Given the description of an element on the screen output the (x, y) to click on. 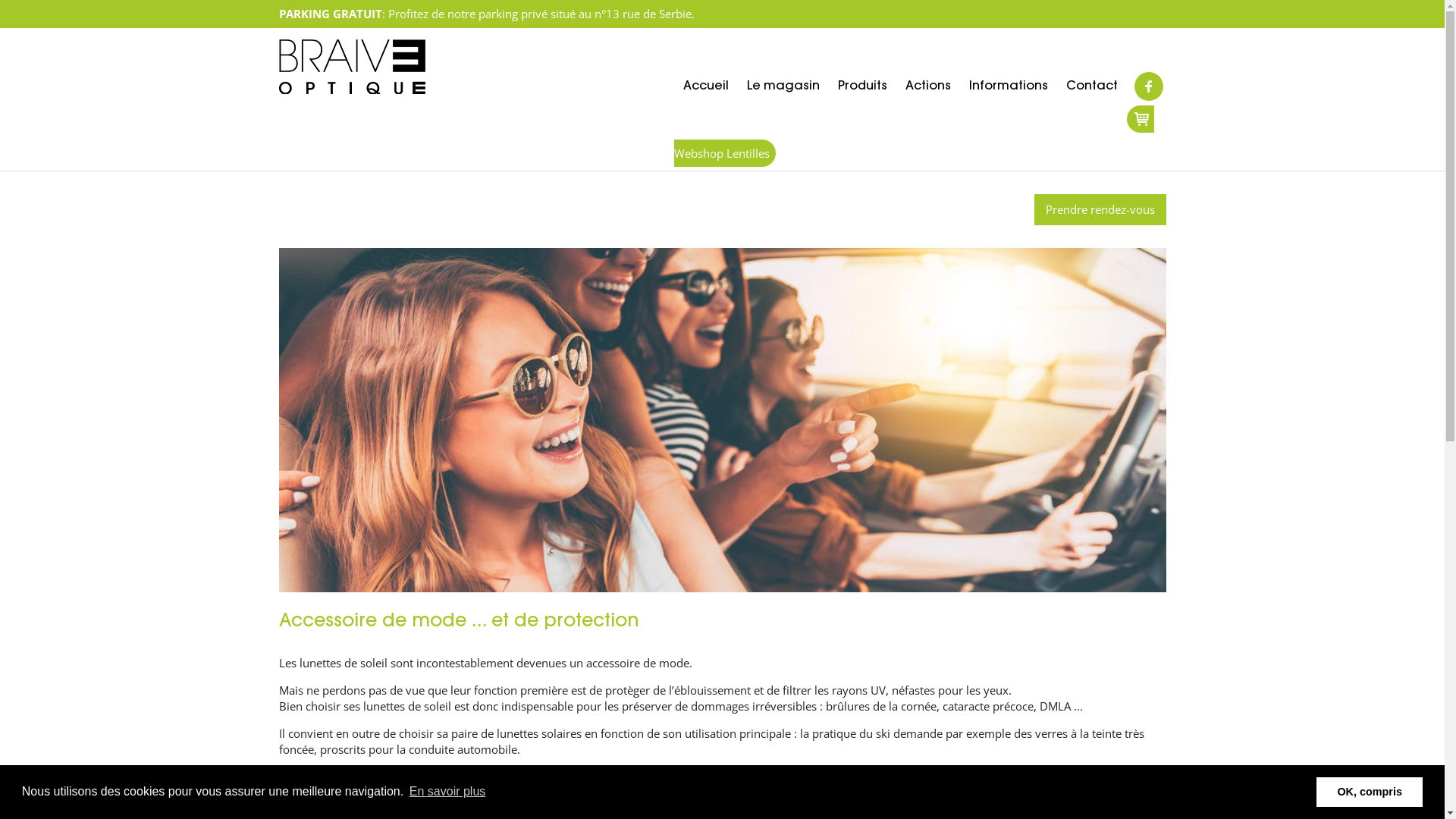
vind ons op facebook Element type: text (1148, 86)
OK, compris Element type: text (1369, 791)
Braive Optique - BOP Element type: text (352, 66)
Actions Element type: text (928, 86)
Prendre rendez-vous Element type: text (1100, 209)
Contact Element type: text (1091, 86)
En savoir plus Element type: text (447, 791)
Le magasin Element type: text (782, 86)
Aller au contenu principal Element type: text (66, 0)
Webshop Lentilles Element type: text (913, 135)
Produits Element type: text (861, 86)
Accueil Element type: text (705, 86)
